Given the description of an element on the screen output the (x, y) to click on. 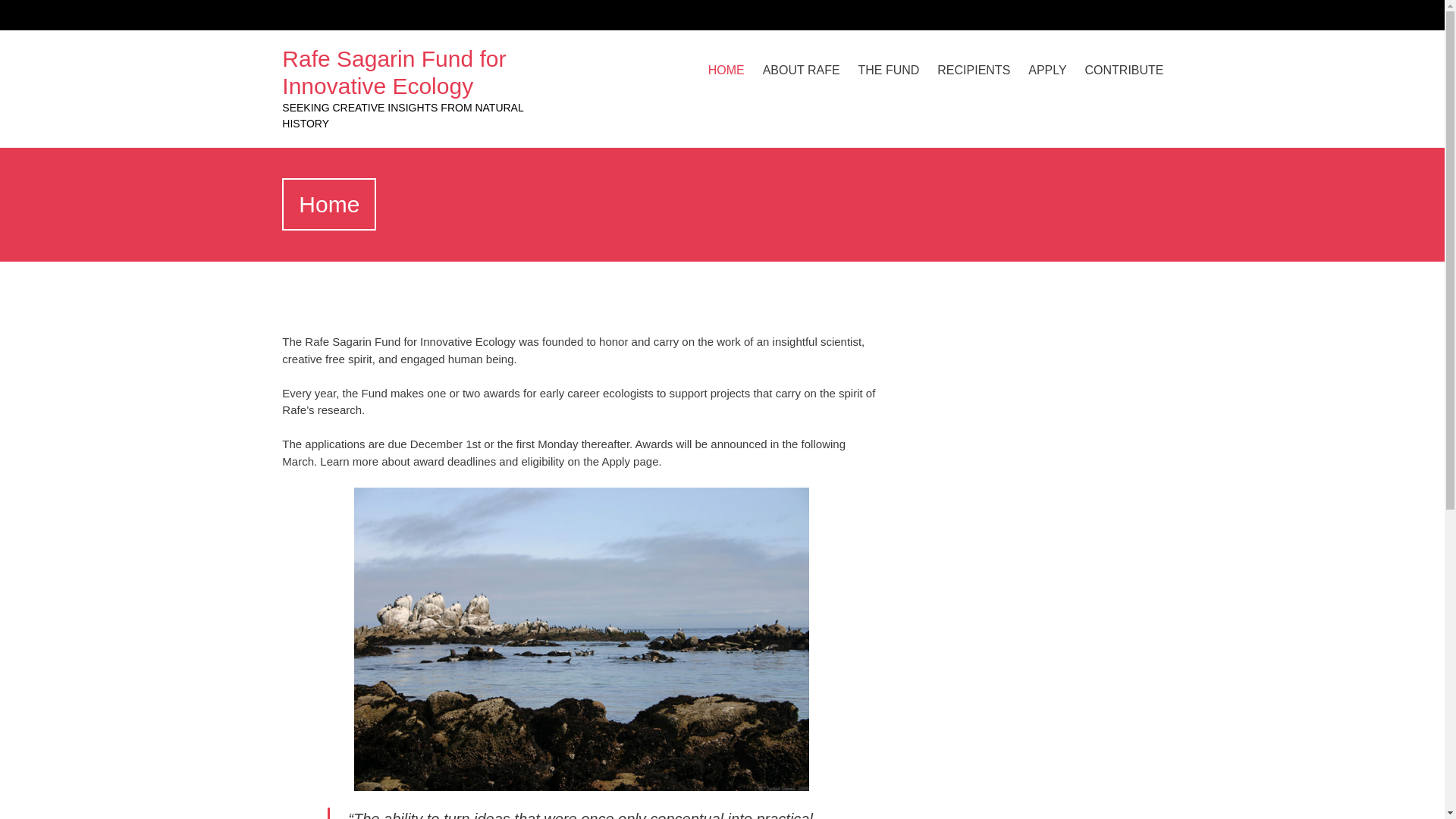
ABOUT RAFE (801, 70)
RECIPIENTS (973, 70)
HOME (726, 70)
THE FUND (888, 70)
CONTRIBUTE (1123, 70)
APPLY (1047, 70)
Rafe Sagarin Fund for Innovative Ecology (393, 71)
